Given the description of an element on the screen output the (x, y) to click on. 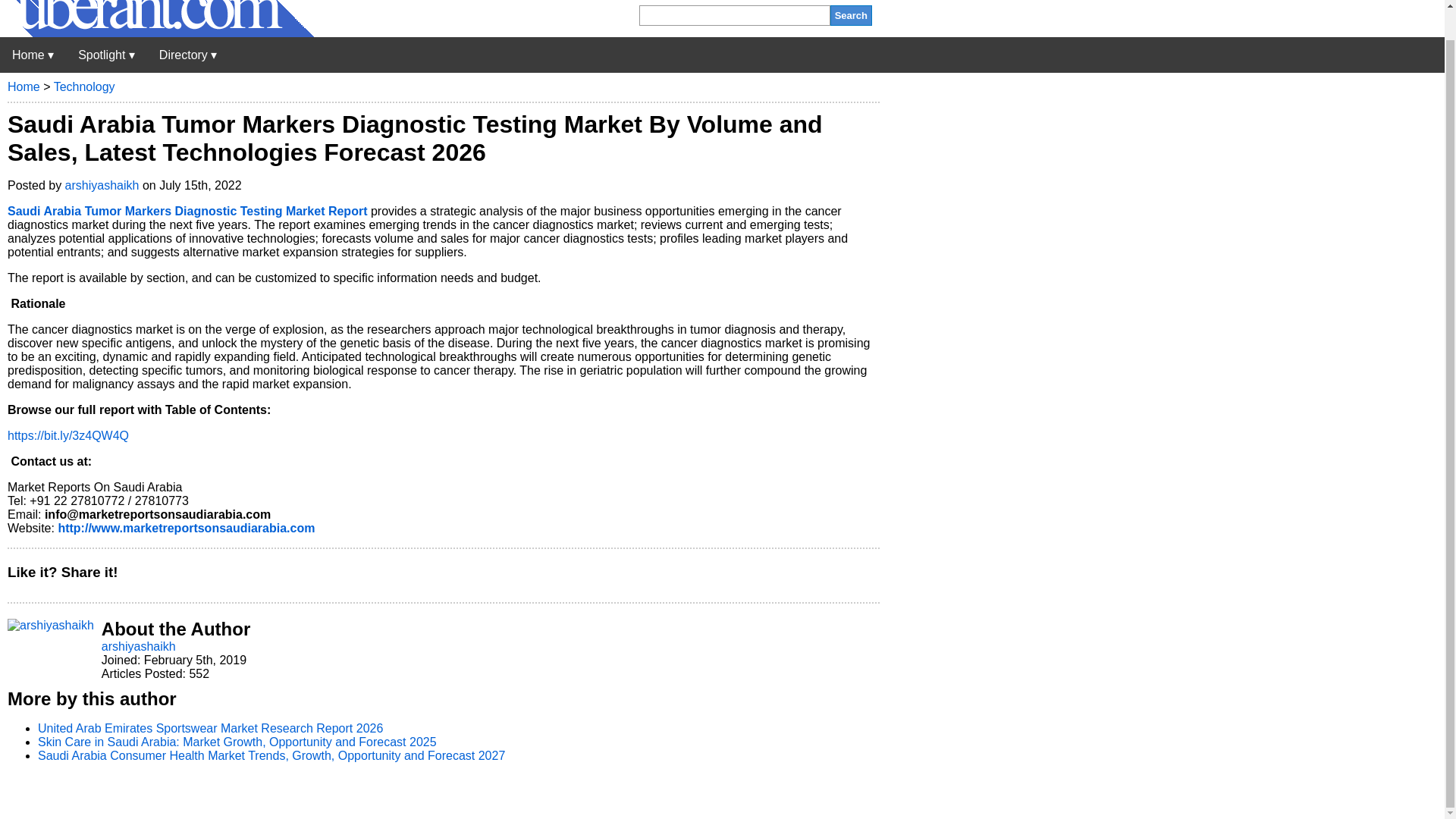
Uberant (32, 54)
Search (850, 14)
Uberant (157, 32)
Search (850, 14)
